Given the description of an element on the screen output the (x, y) to click on. 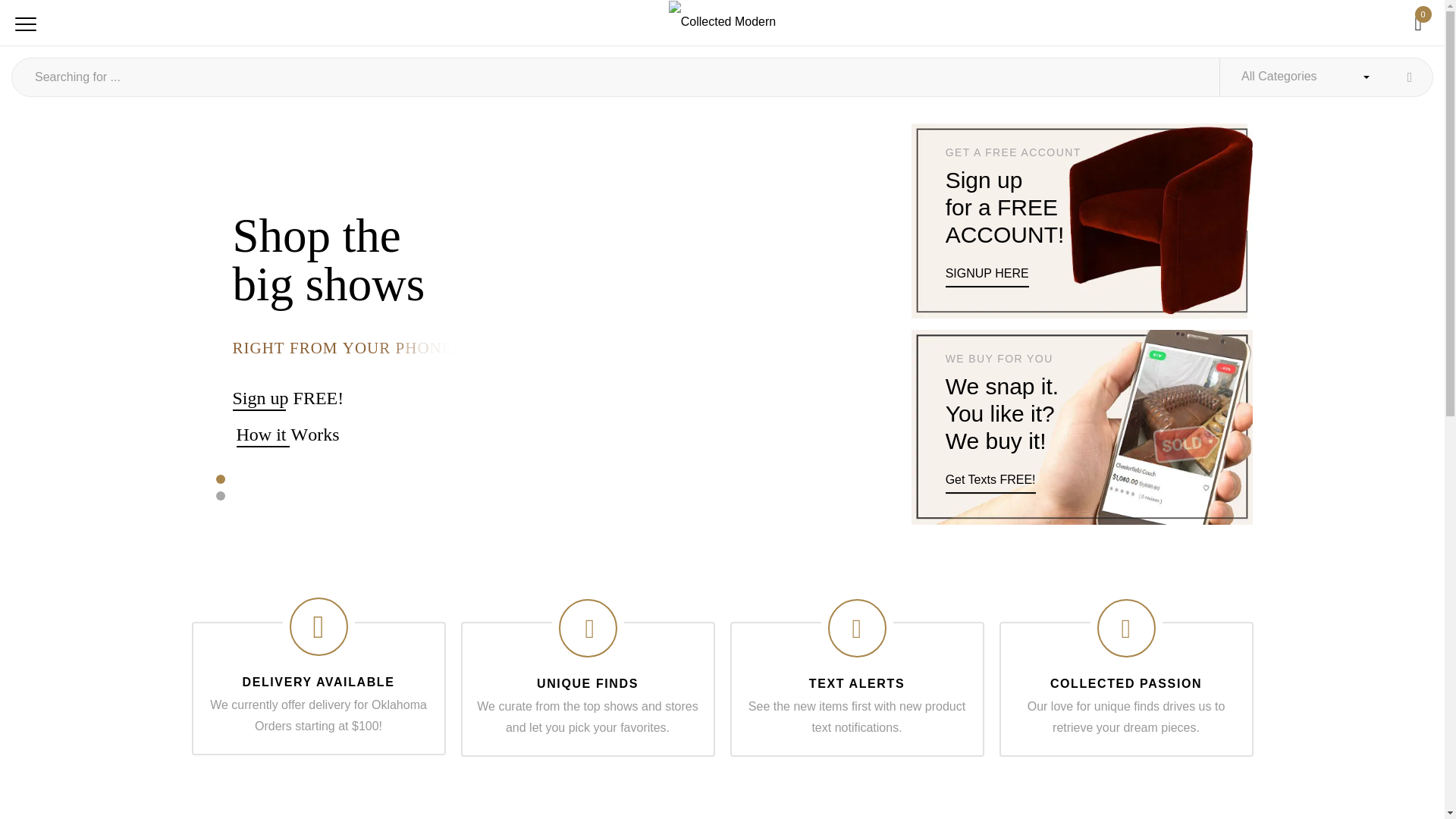
Get Texts FREE! (989, 481)
Sign up FREE! (258, 398)
SIGNUP HERE (986, 275)
All Categories (1326, 77)
How it Works (262, 434)
